Given the description of an element on the screen output the (x, y) to click on. 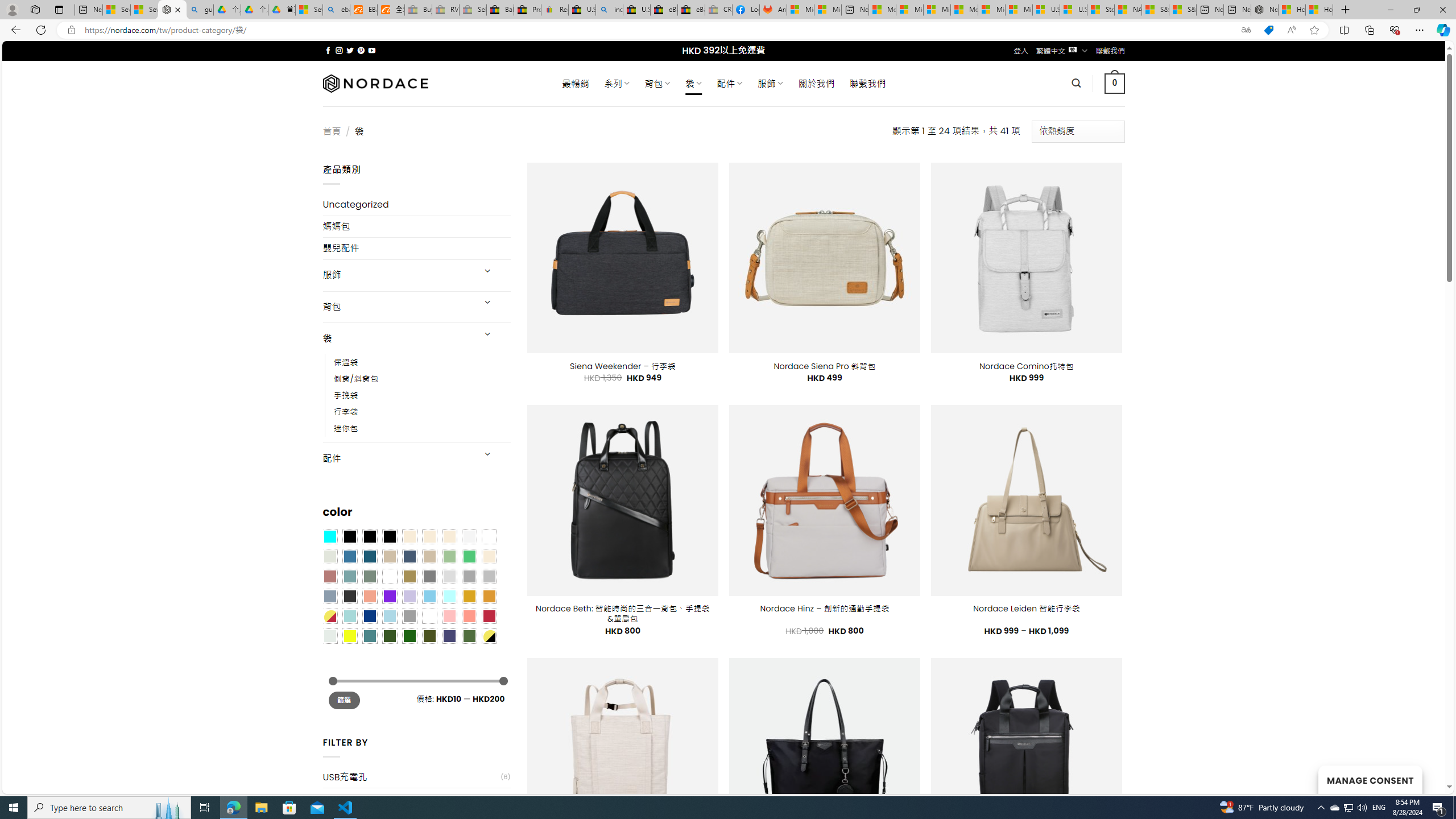
Uncategorized (416, 204)
U.S. State Privacy Disclosures - eBay Inc. (636, 9)
